Given the description of an element on the screen output the (x, y) to click on. 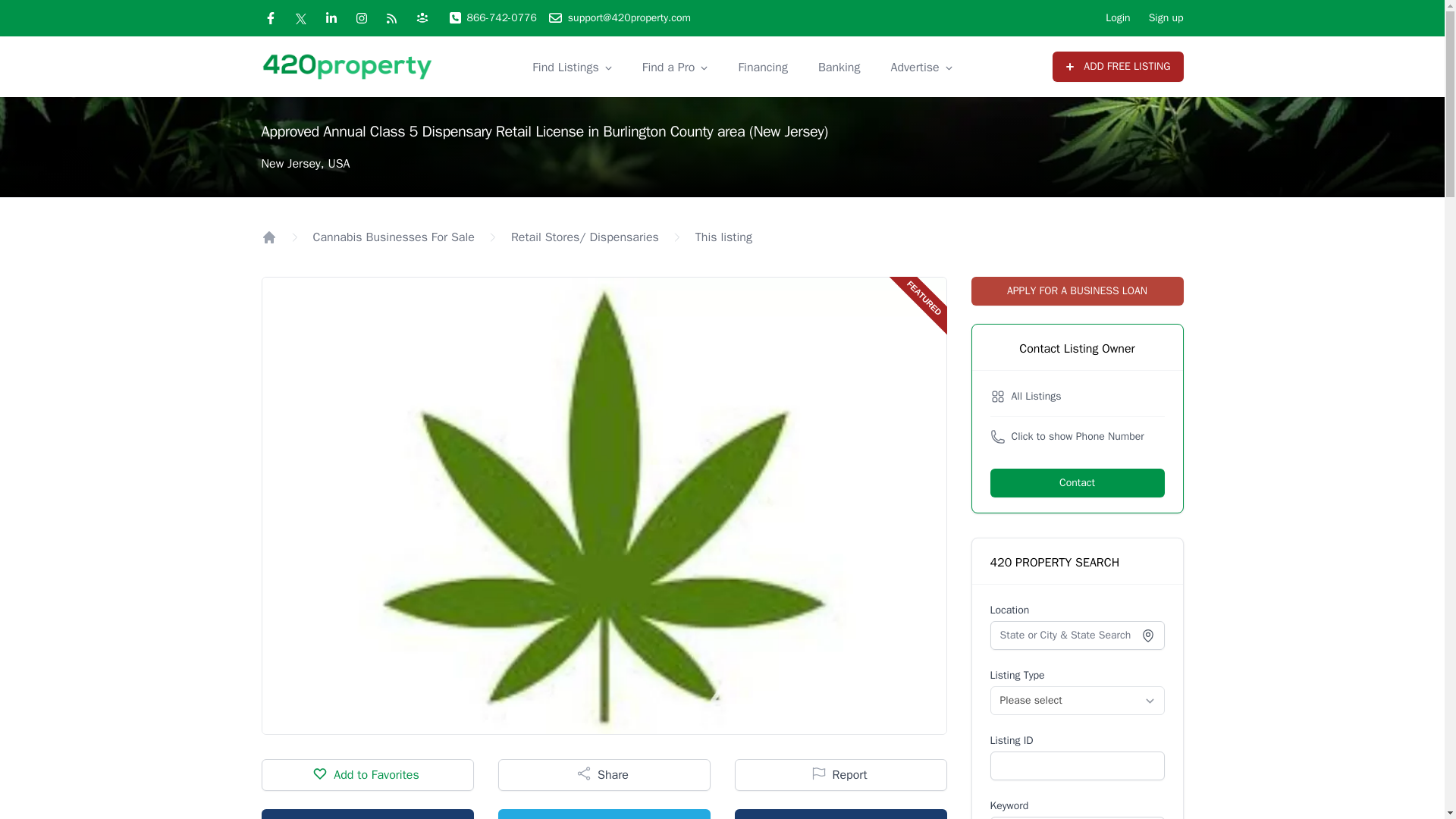
Find Listings (565, 67)
Login (1117, 17)
866-742-0776 (491, 18)
Sign up (1165, 17)
